Given the description of an element on the screen output the (x, y) to click on. 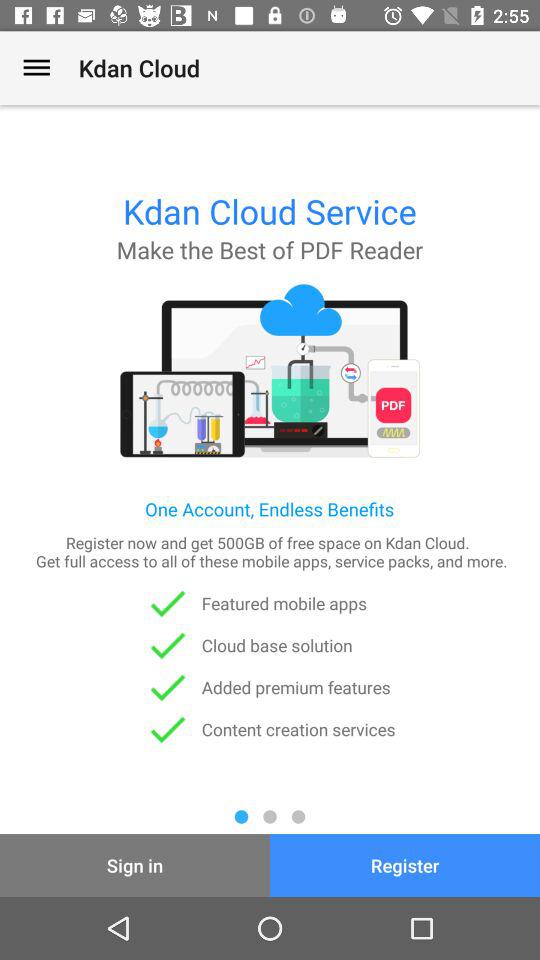
click on image at middle of page (270, 370)
